Given the description of an element on the screen output the (x, y) to click on. 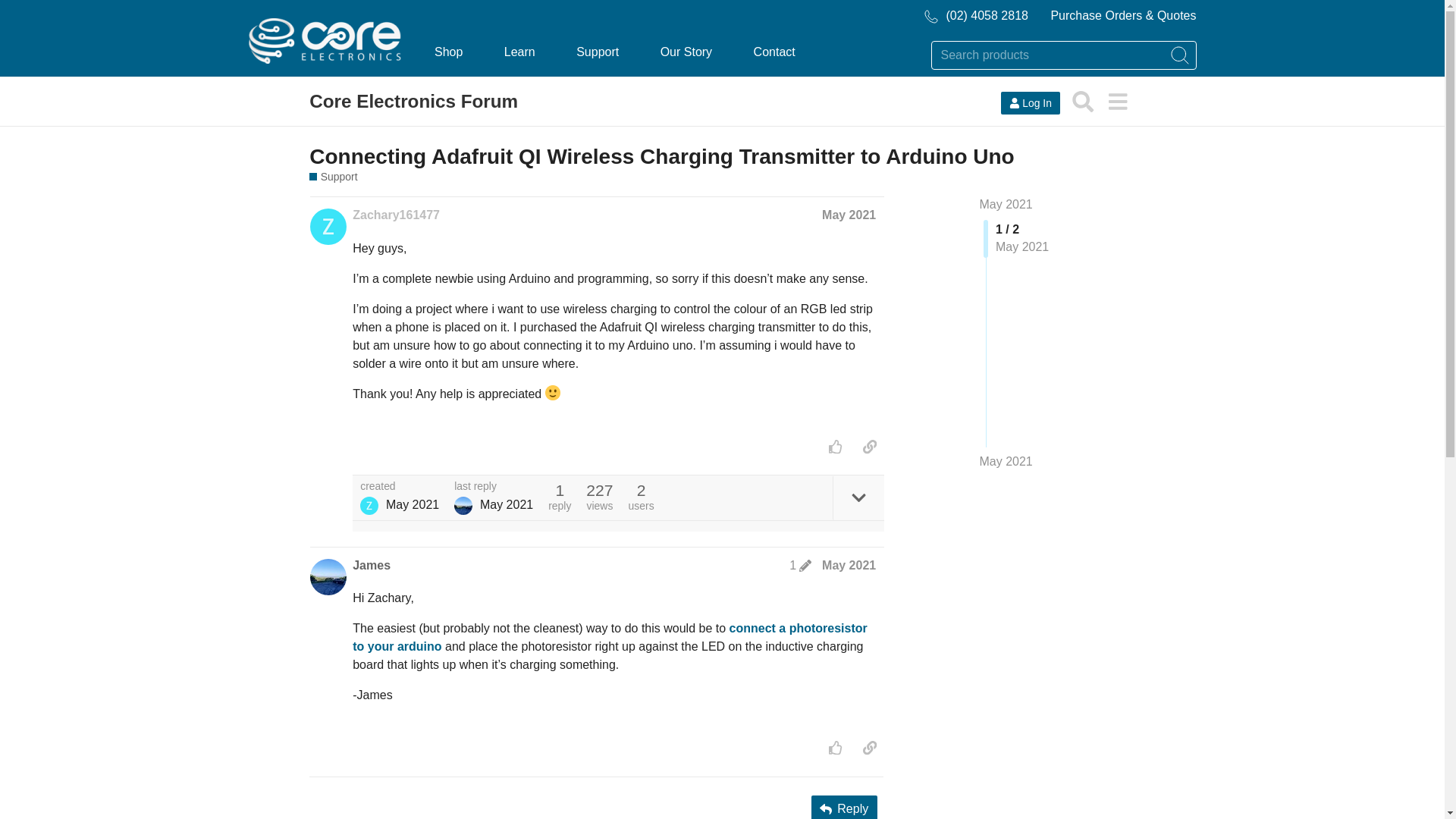
May 2021 (1005, 461)
Core Electronics Forum (413, 101)
copy a link to this post to clipboard (869, 446)
menu (1117, 101)
expand topic details (857, 497)
Jump to the first post (1005, 204)
last reply (493, 486)
like this post (835, 446)
May 2021 (849, 214)
James F (462, 505)
Log In (1030, 102)
Our Story (686, 52)
Support (332, 176)
Jump to the last post (1005, 461)
Learn (519, 52)
